Given the description of an element on the screen output the (x, y) to click on. 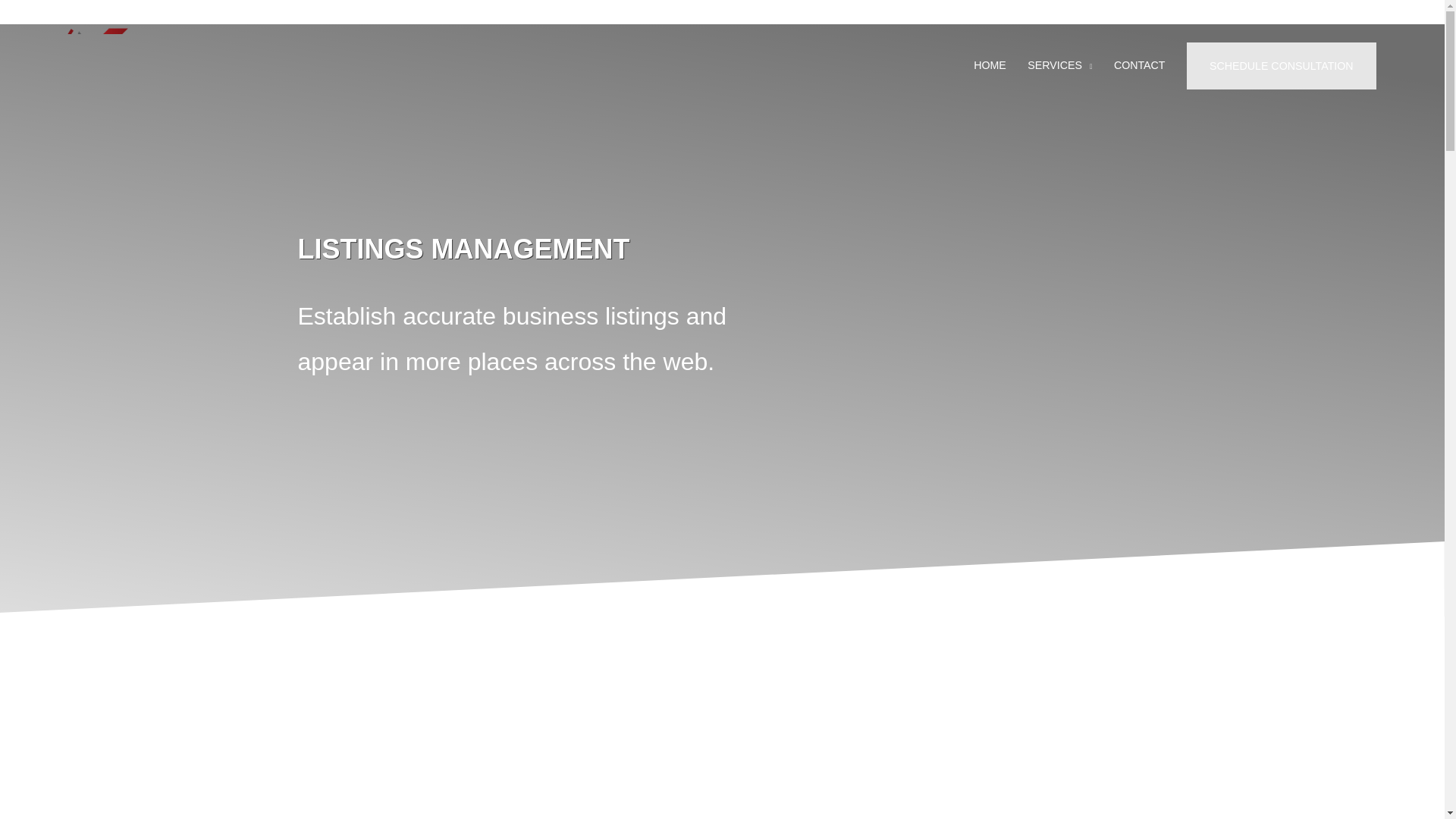
CONTACT (1139, 65)
HOME (989, 65)
SCHEDULE CONSULTATION (1280, 65)
SERVICES (1059, 65)
